Given the description of an element on the screen output the (x, y) to click on. 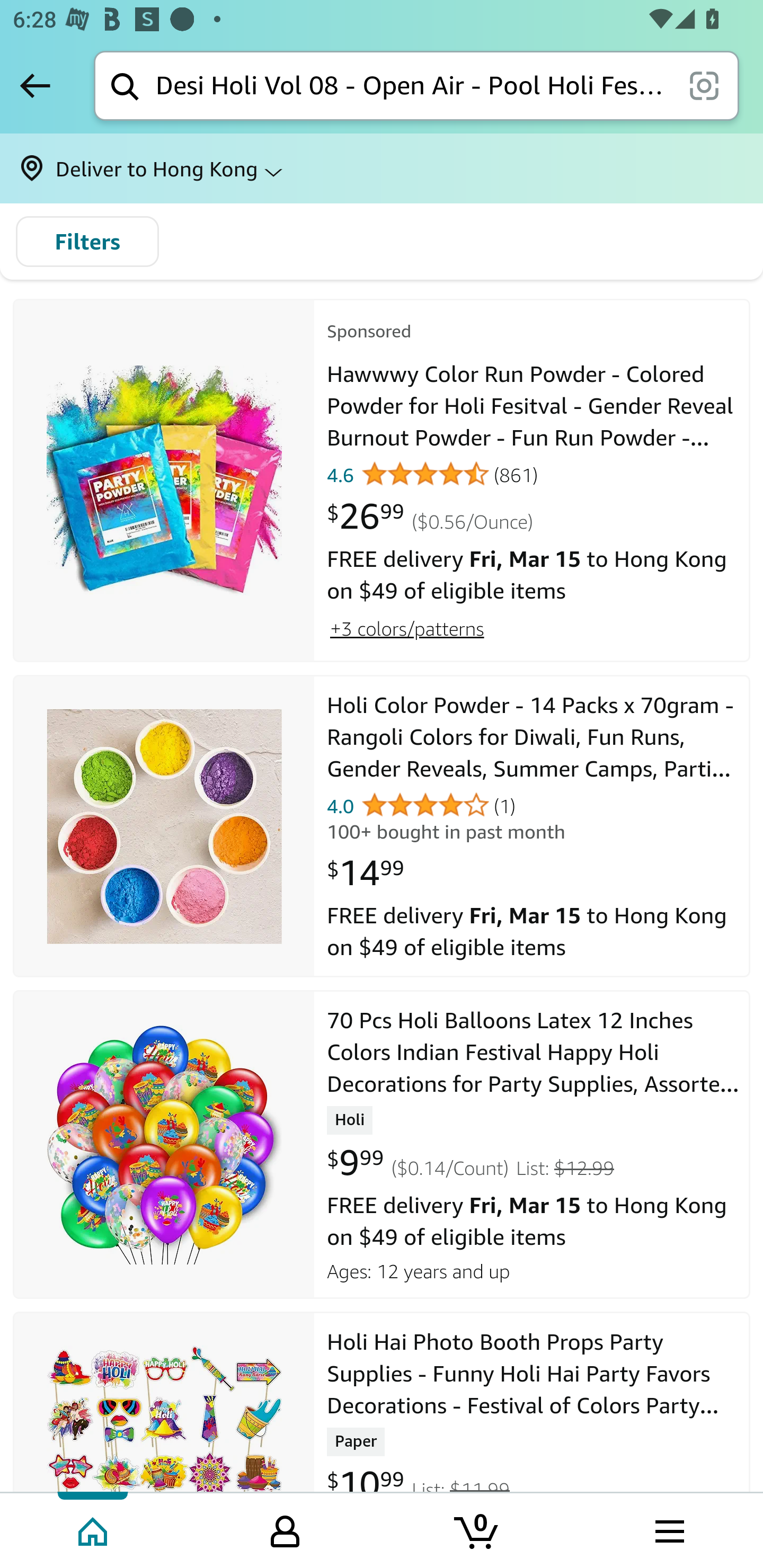
Back (35, 85)
scan it (704, 85)
Deliver to Hong Kong ⌵ (381, 168)
Filters (87, 241)
+3 colors/patterns (406, 627)
Ages: 12 years and up (532, 1268)
Home Tab 1 of 4 (94, 1529)
Your Amazon.com Tab 2 of 4 (285, 1529)
Cart 0 item Tab 3 of 4 0 (477, 1529)
Browse menu Tab 4 of 4 (668, 1529)
